Given the description of an element on the screen output the (x, y) to click on. 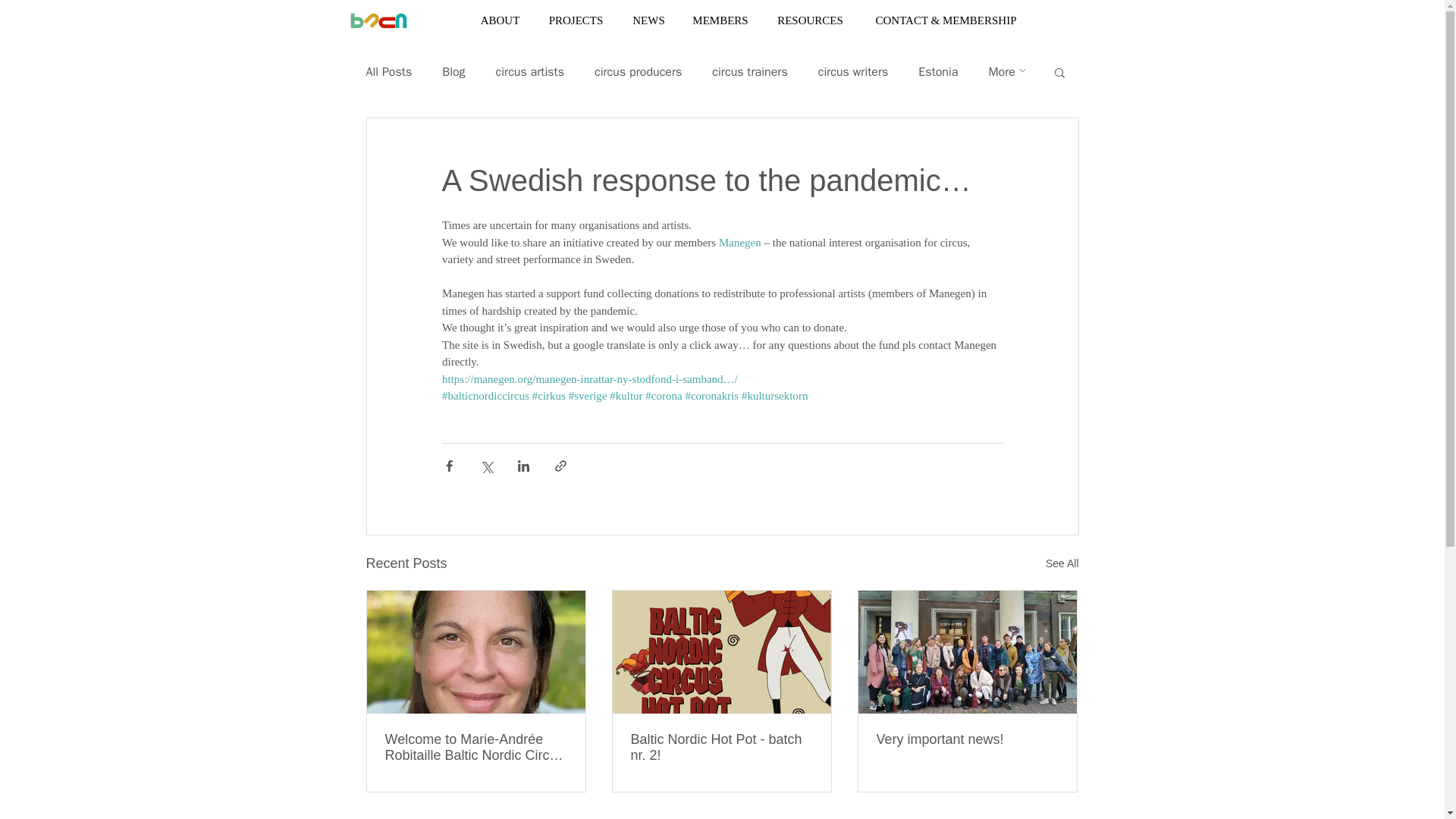
See All (1061, 563)
circus writers (853, 71)
circus artists (530, 71)
ABOUT (499, 20)
All Posts (388, 71)
Manegen (738, 242)
MEMBERS (720, 20)
Estonia (938, 71)
Baltic Nordic Hot Pot - batch nr. 2! (721, 746)
PROJECTS (576, 20)
